Given the description of an element on the screen output the (x, y) to click on. 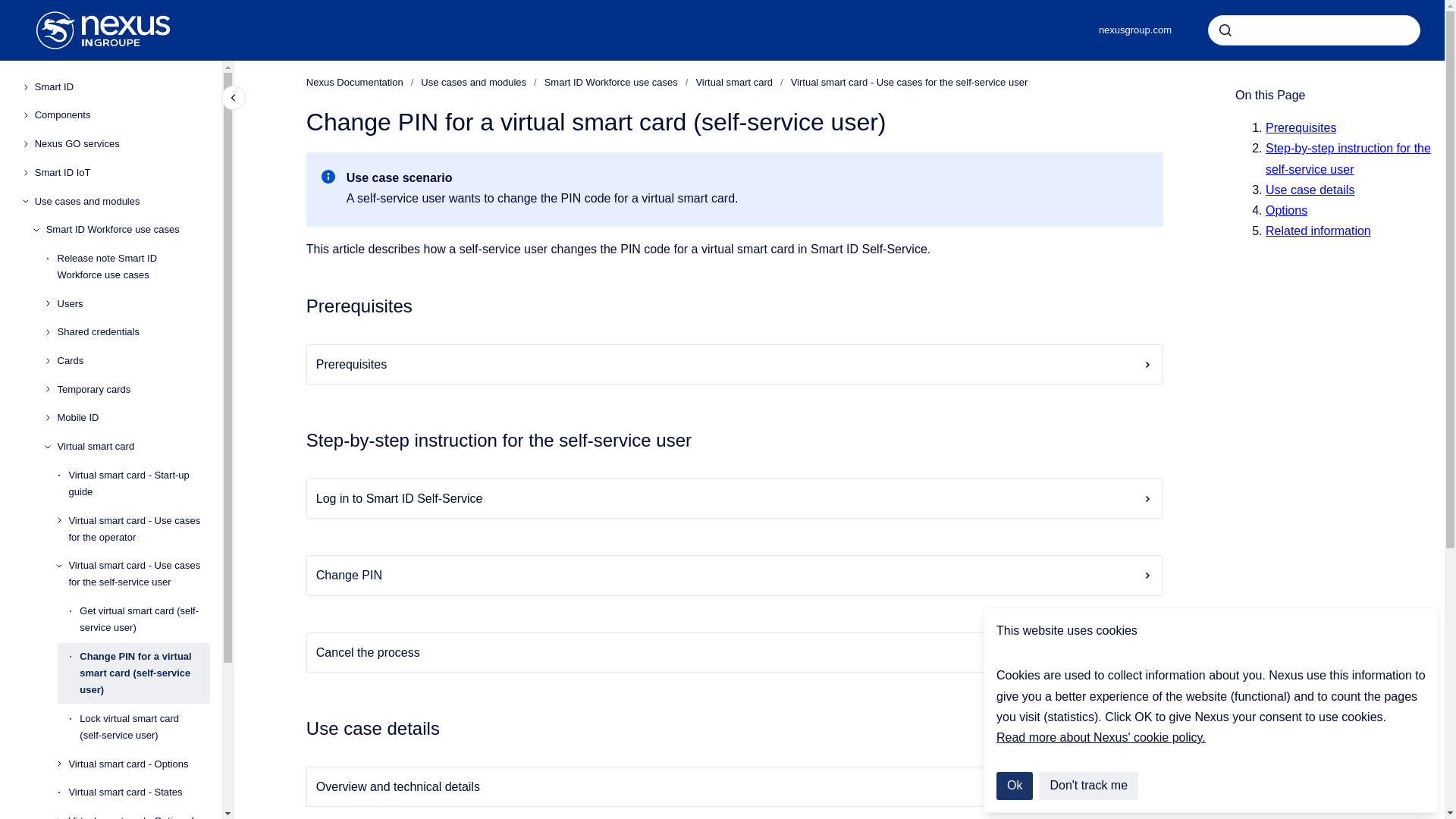
Ok (1013, 786)
Virtual smart card (133, 446)
Nexus GO services (121, 144)
Don't track me (1088, 786)
Users (133, 303)
Read more about Nexus' cookie policy. (1100, 737)
Go to homepage (103, 30)
Virtual smart card - Use cases for the self-service user (138, 574)
Use cases and modules (121, 201)
Release note Smart ID Workforce use cases (133, 266)
